Given the description of an element on the screen output the (x, y) to click on. 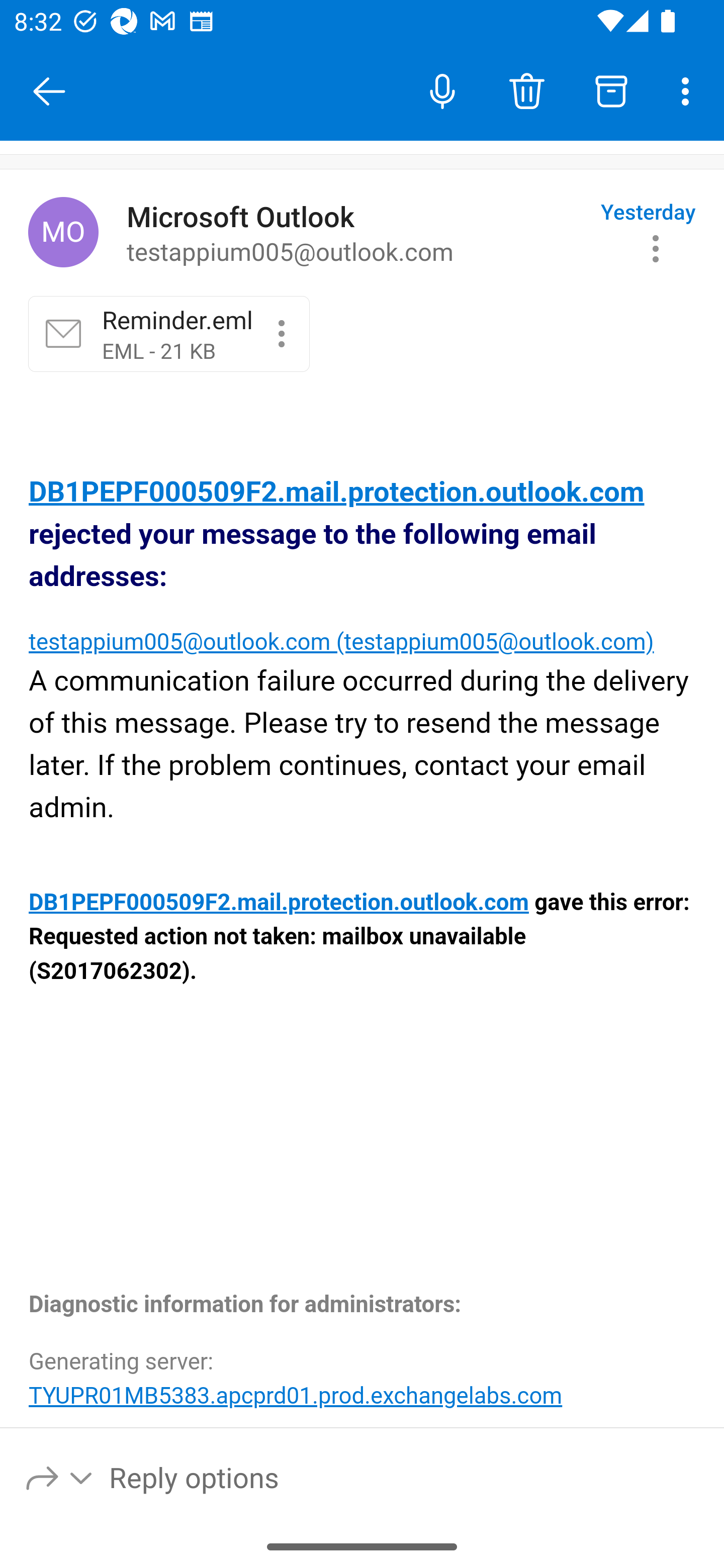
Close (49, 91)
Delete (526, 90)
Archive (611, 90)
More options (688, 90)
Microsoft Outlook
to testappium005@outlook.com (356, 232)
Message actions (655, 248)
Reminder.eml (281, 333)
DB1PEPF000509F2.mail.protection.outlook.com (336, 492)
DB1PEPF000509F2.mail.protection.outlook.com (278, 903)
TYUPR01MB5383.apcprd01.prod.exchangelabs.com (295, 1395)
Reply options (59, 1476)
